Given the description of an element on the screen output the (x, y) to click on. 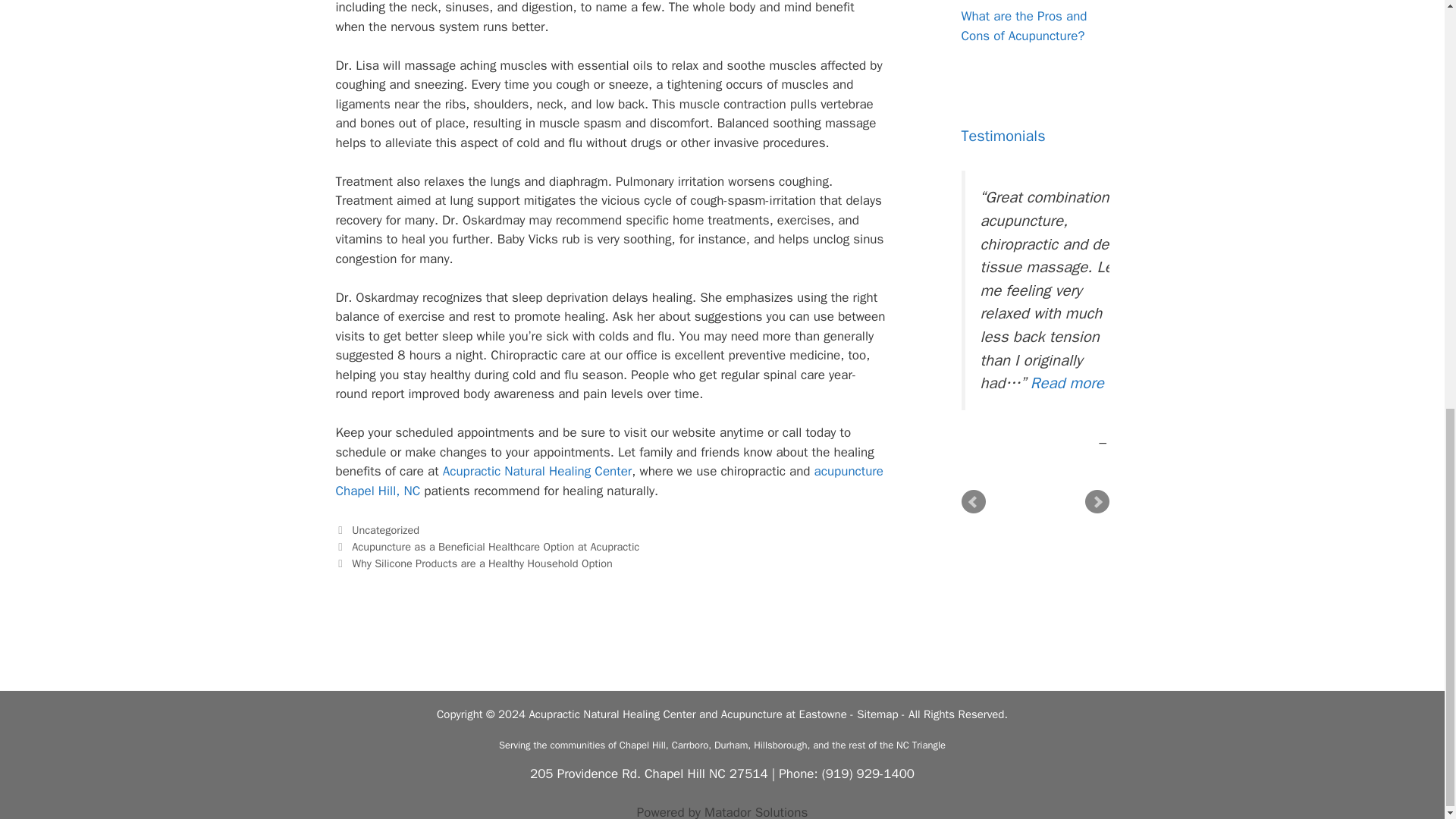
Uncategorized (385, 530)
Acupuncture as a Beneficial Healthcare Option at Acupractic (495, 546)
Complete testimonial by Cory O (1066, 383)
Acupractic Natural Healing Center (536, 471)
acupuncture Chapel Hill, NC (608, 480)
